Given the description of an element on the screen output the (x, y) to click on. 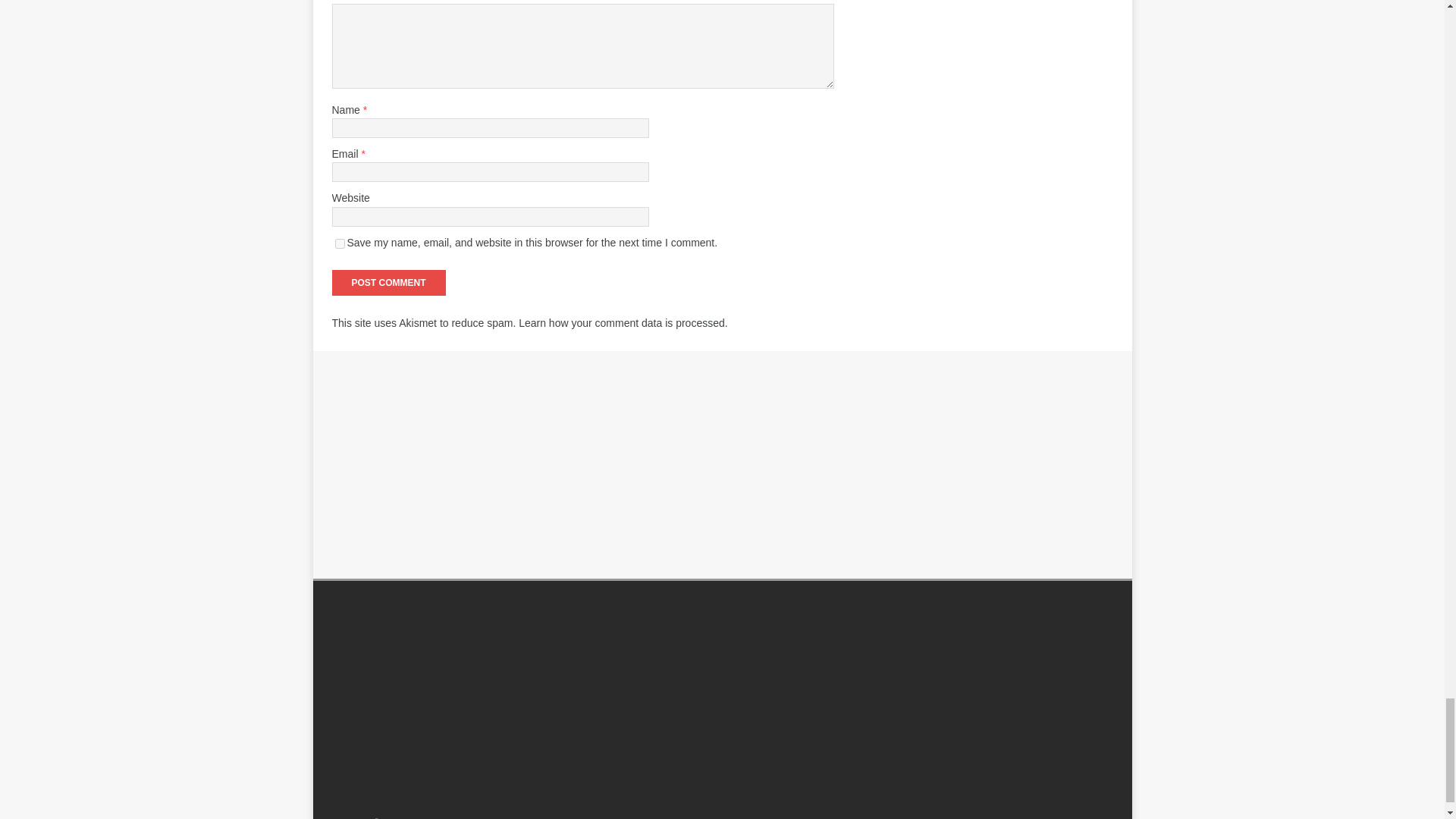
Learn how your comment data is processed (621, 322)
Post Comment (388, 282)
Post Comment (388, 282)
yes (339, 243)
